Given the description of an element on the screen output the (x, y) to click on. 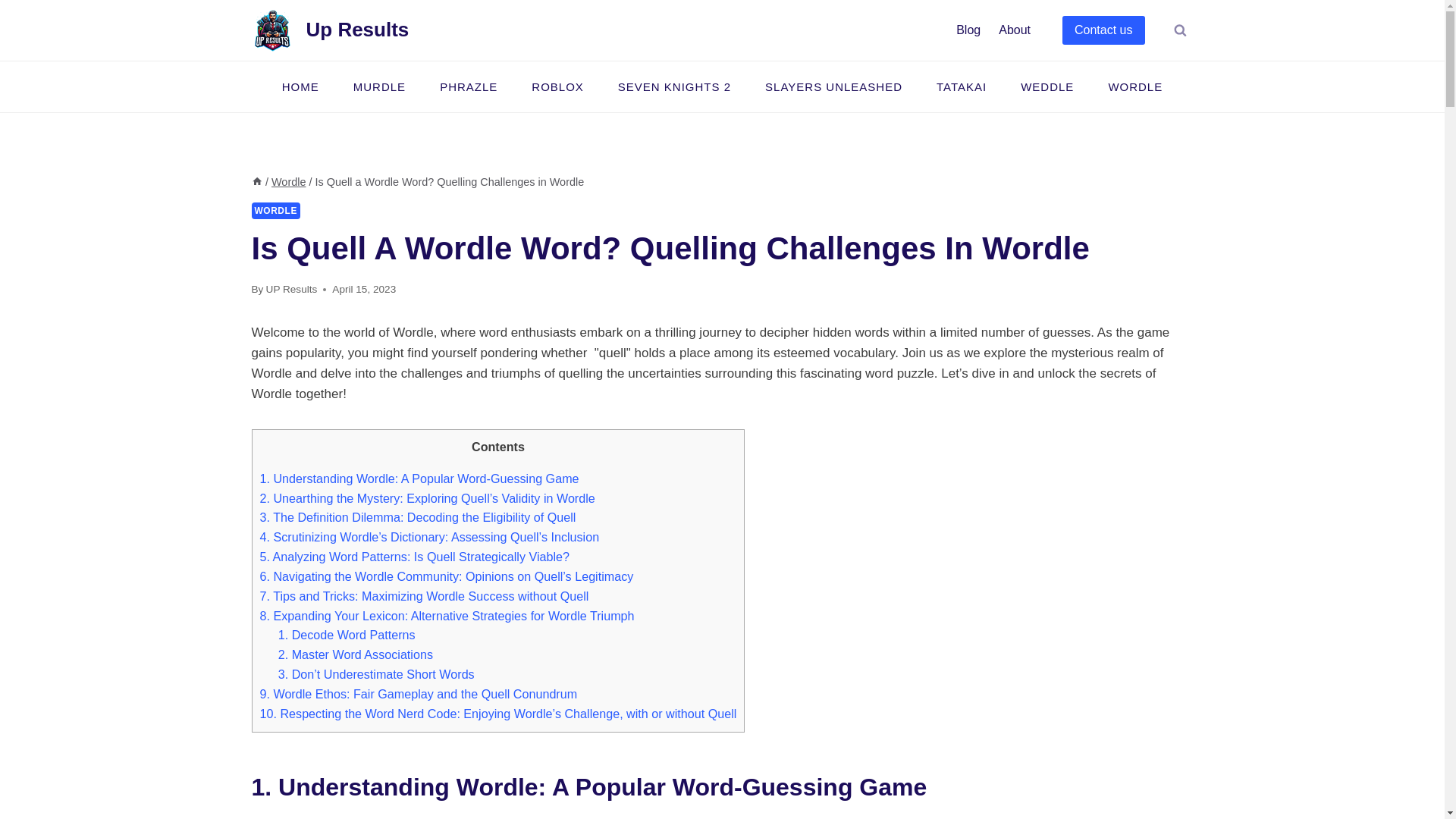
TATAKAI (960, 86)
WORDLE (275, 210)
Up Results (330, 29)
SLAYERS UNLEASHED (834, 86)
PHRAZLE (469, 86)
Blog (968, 30)
ROBLOX (558, 86)
SEVEN KNIGHTS 2 (673, 86)
HOME (300, 86)
Contact us (1103, 30)
1. Decode Word Patterns (346, 634)
WEDDLE (1047, 86)
About (1014, 30)
Wordle (287, 182)
UP Results (291, 288)
